Given the description of an element on the screen output the (x, y) to click on. 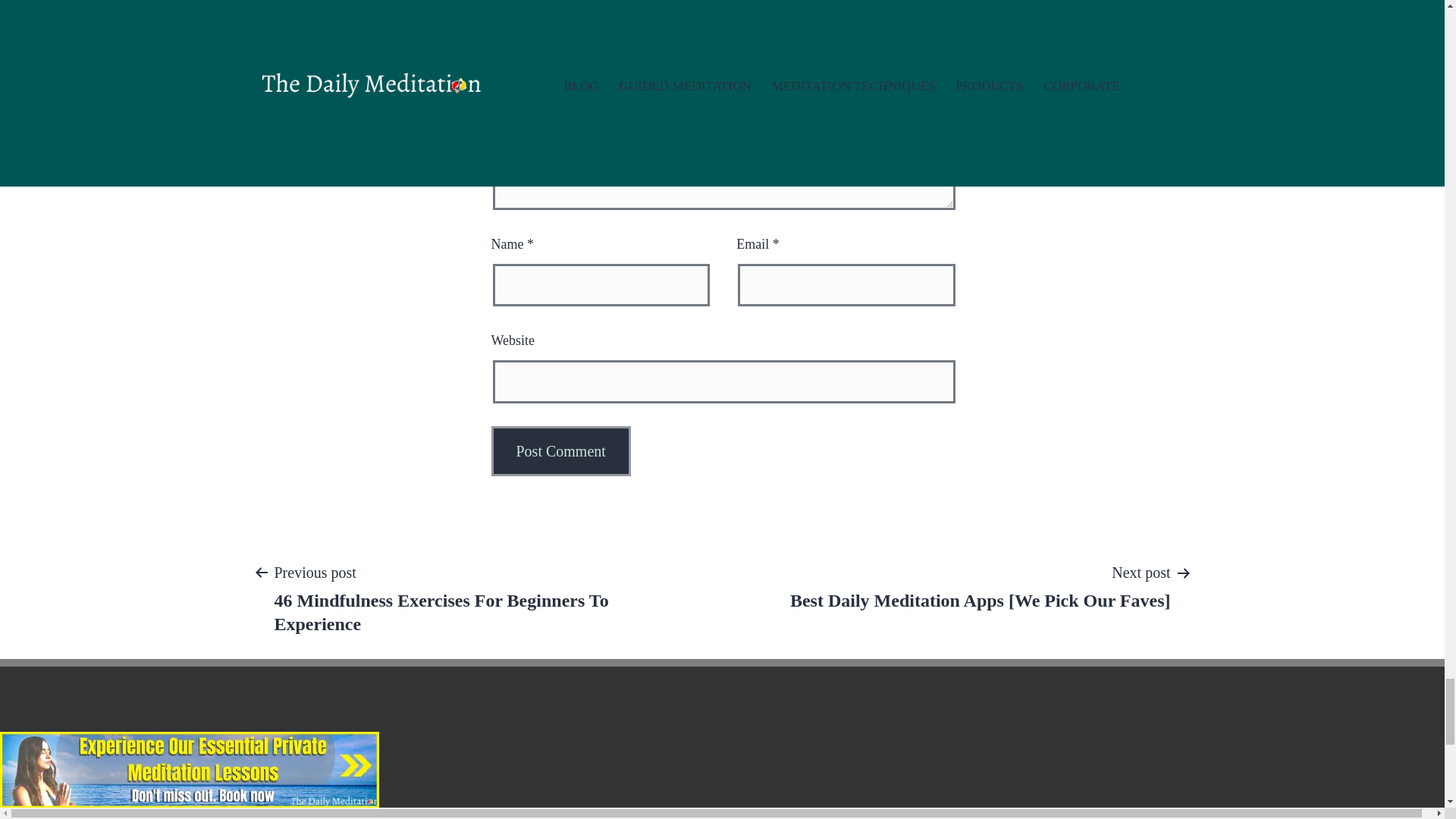
Post Comment (561, 450)
